Given the description of an element on the screen output the (x, y) to click on. 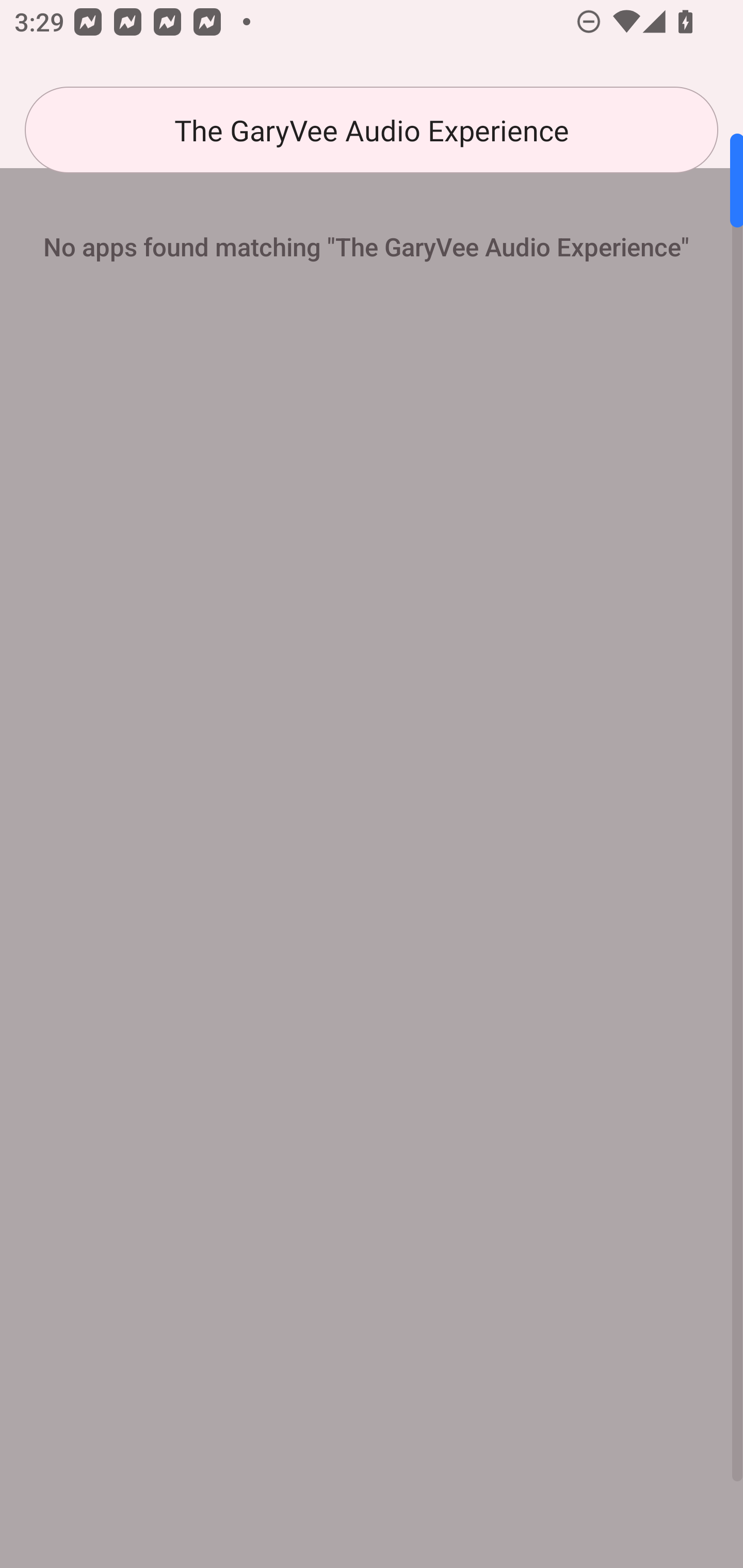
The GaryVee Audio Experience (371, 130)
